Given the description of an element on the screen output the (x, y) to click on. 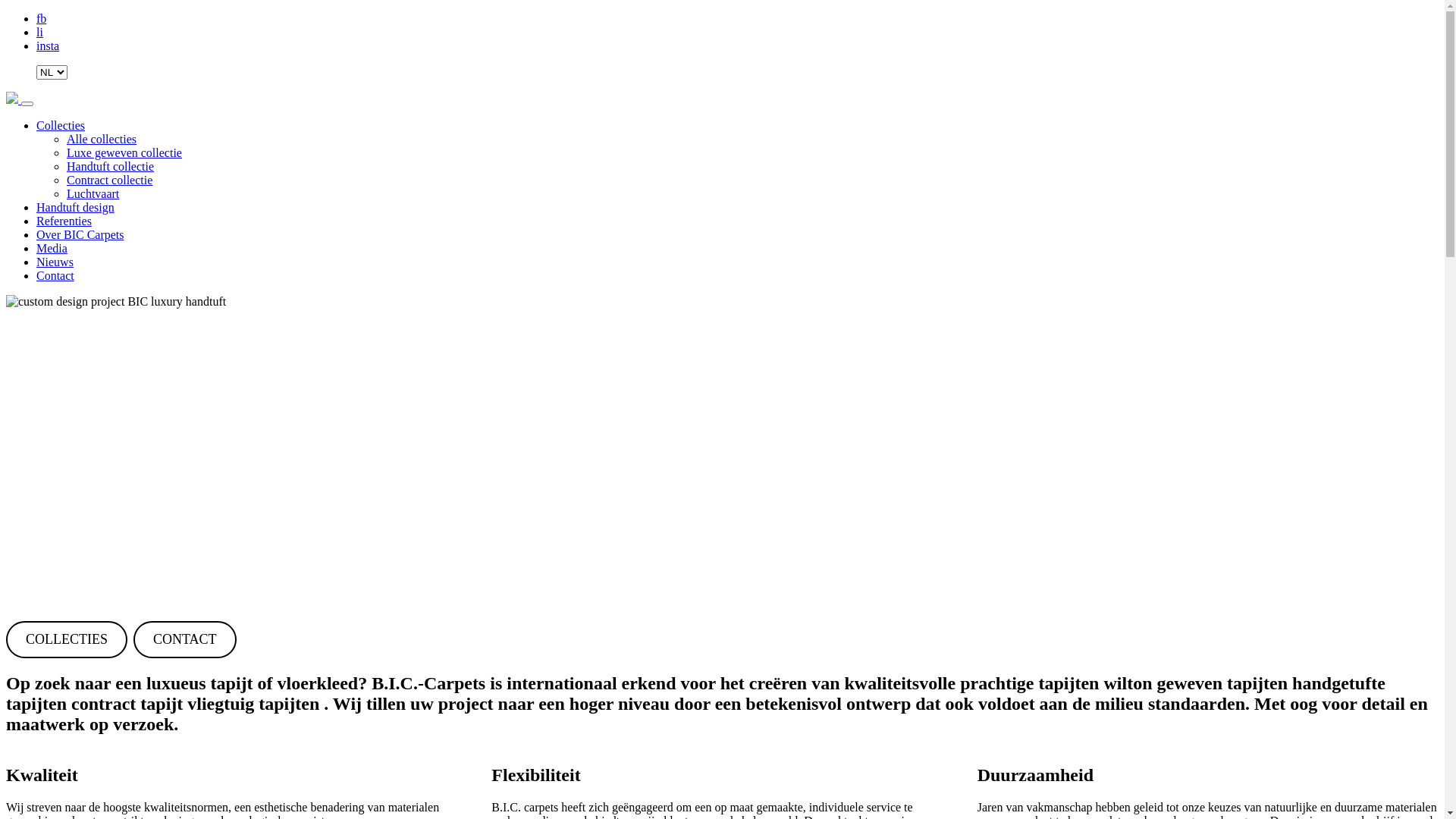
Nieuws Element type: text (54, 261)
Alle collecties Element type: text (101, 138)
Media Element type: text (51, 247)
Over BIC Carpets Element type: text (80, 234)
Contact Element type: text (55, 275)
li Element type: text (39, 31)
CONTACT Element type: text (184, 639)
Referenties Element type: text (63, 220)
Luxe geweven collectie Element type: text (124, 152)
COLLECTIES Element type: text (66, 639)
insta Element type: text (47, 45)
Collecties Element type: text (60, 125)
Handtuft design Element type: text (75, 206)
Contract collectie Element type: text (109, 179)
fb Element type: text (41, 18)
Luchtvaart Element type: text (92, 193)
Handtuft collectie Element type: text (109, 166)
